Given the description of an element on the screen output the (x, y) to click on. 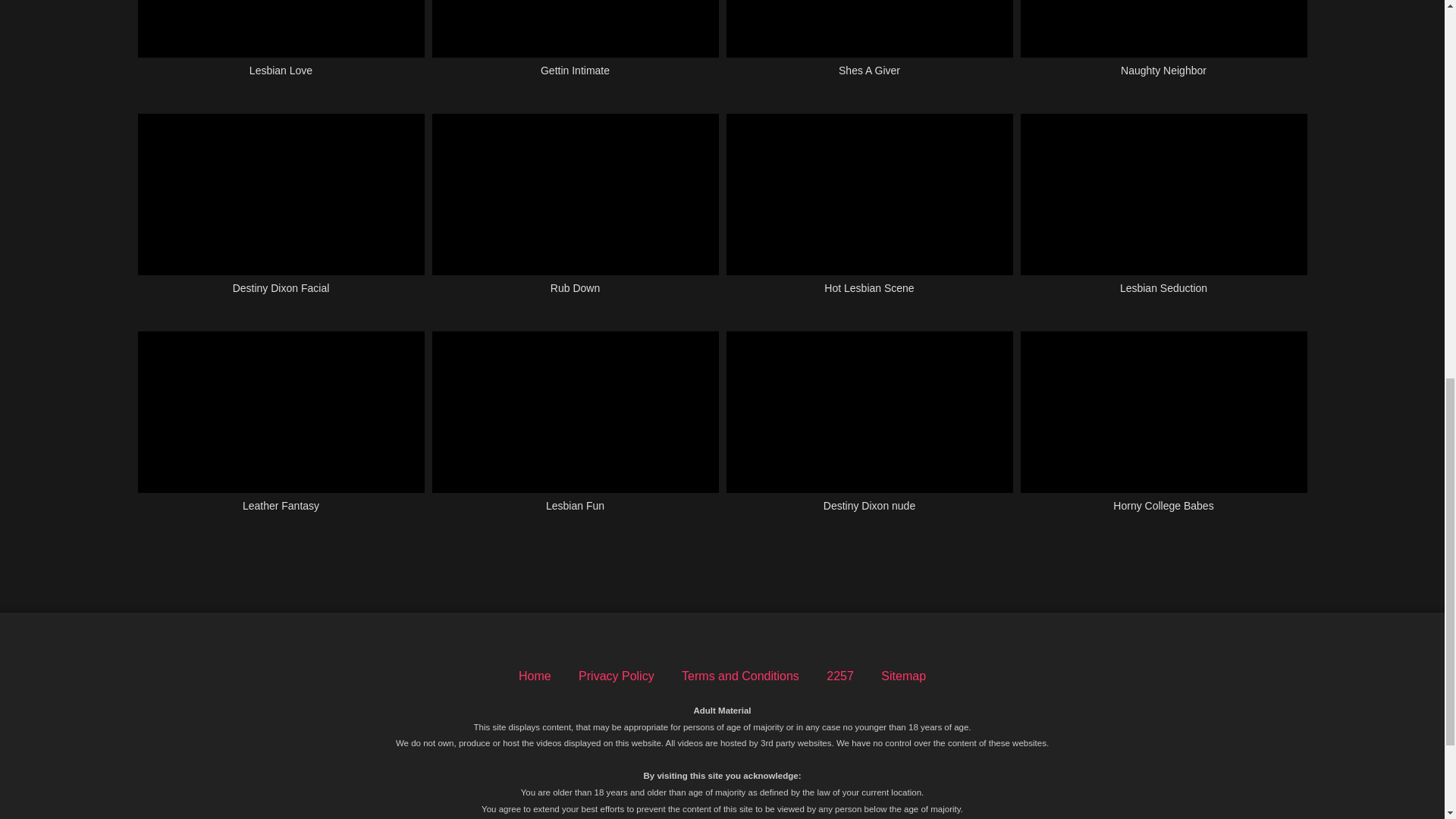
Naughty Neighbor (1163, 47)
Rub Down (575, 212)
Horny College Babes (1163, 430)
Lesbian Love (281, 47)
Shes A Giver (869, 47)
Destiny Dixon nude (869, 430)
Leather Fantasy (281, 430)
Rub Down (575, 212)
Gettin Intimate (575, 47)
Hot Lesbian Scene (869, 212)
